Given the description of an element on the screen output the (x, y) to click on. 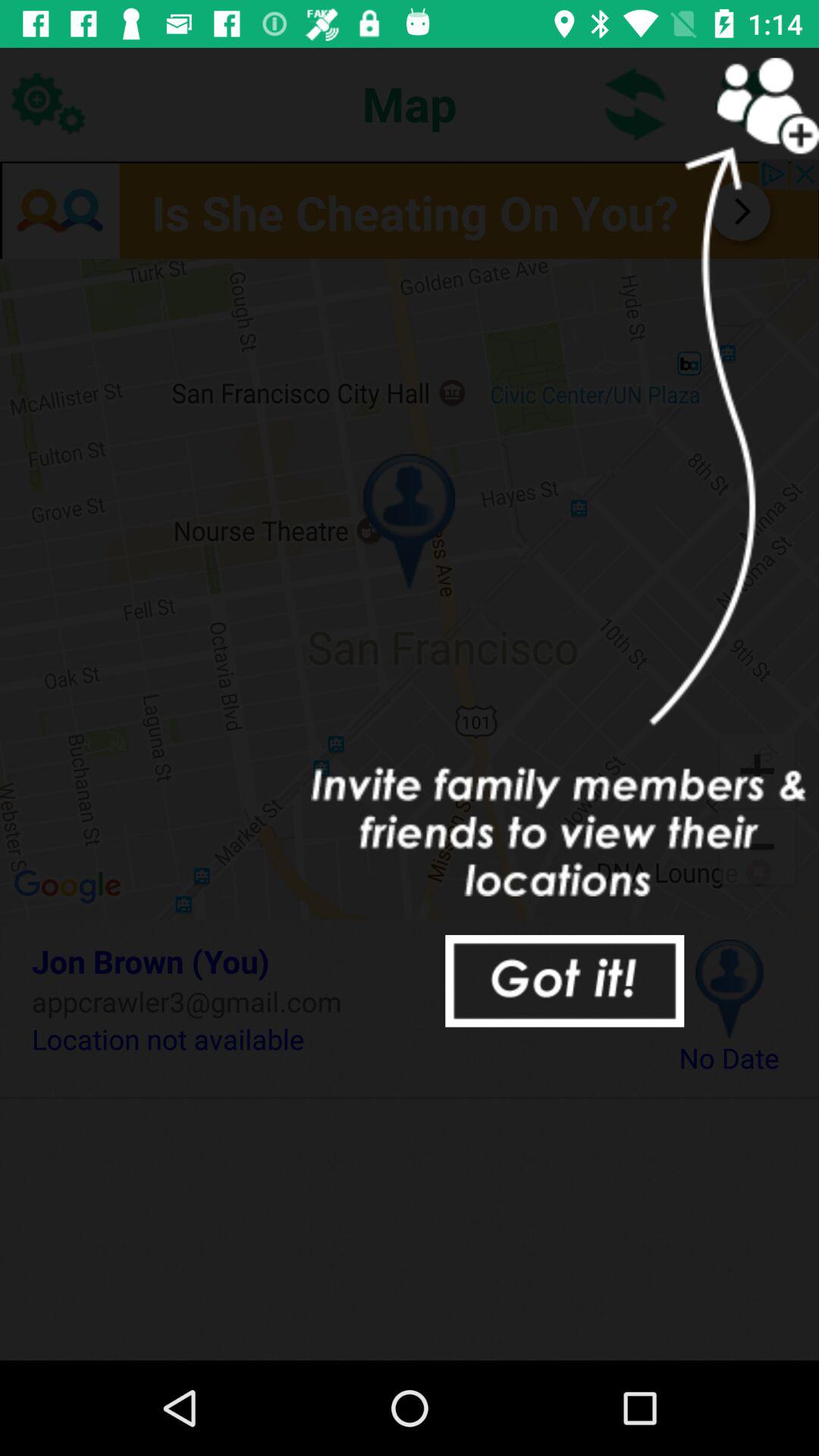
tap icon next to the jon brown (you) icon (729, 989)
